Given the description of an element on the screen output the (x, y) to click on. 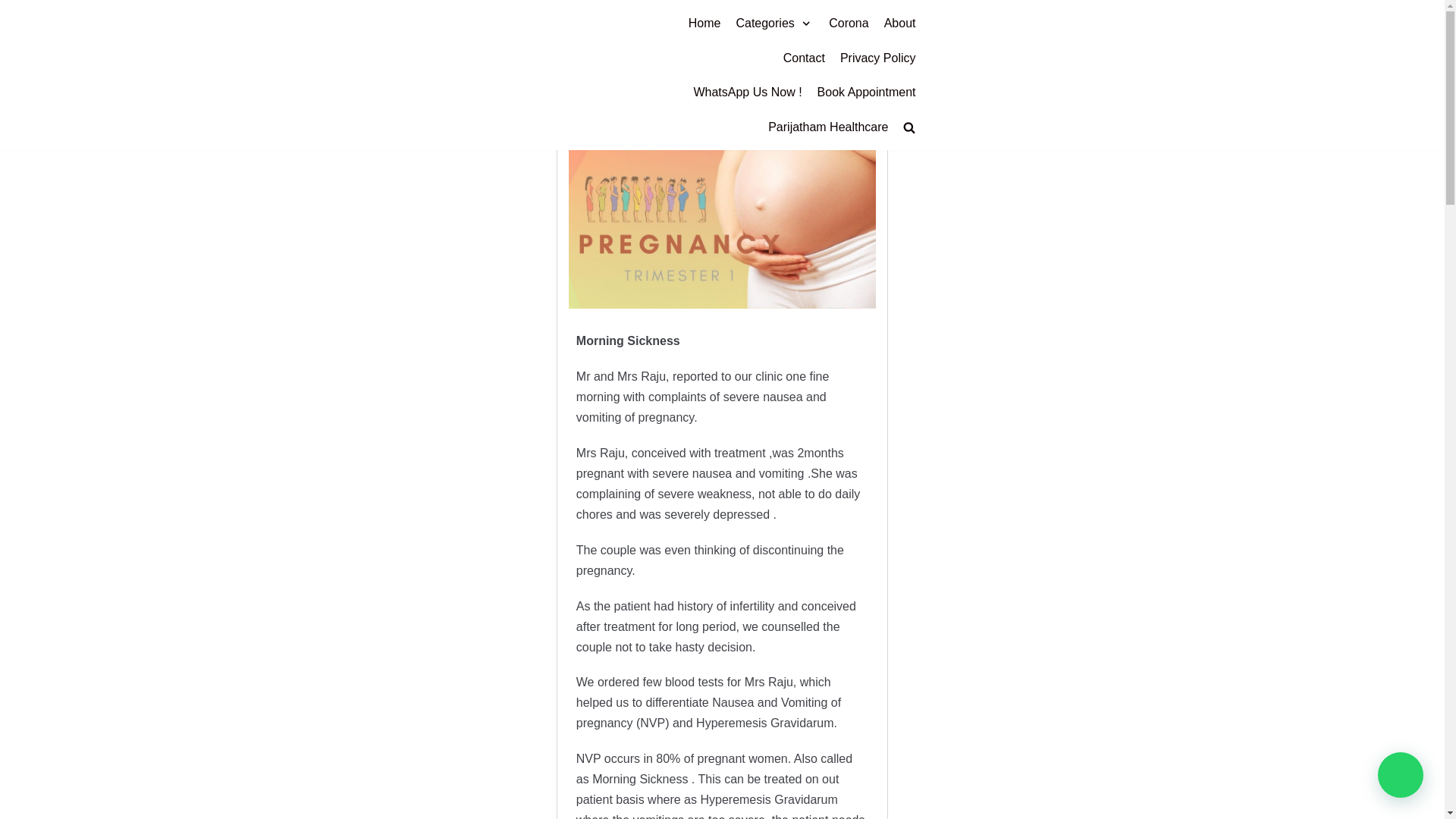
Search (882, 160)
Privacy Policy (877, 57)
Corona (847, 23)
Home (704, 23)
Parijatham Healthcare (828, 127)
About (899, 23)
Book Appointment (865, 92)
Contact (804, 57)
Categories (774, 23)
WhatsApp Us Now ! (747, 92)
Skip to content (15, 7)
